Given the description of an element on the screen output the (x, y) to click on. 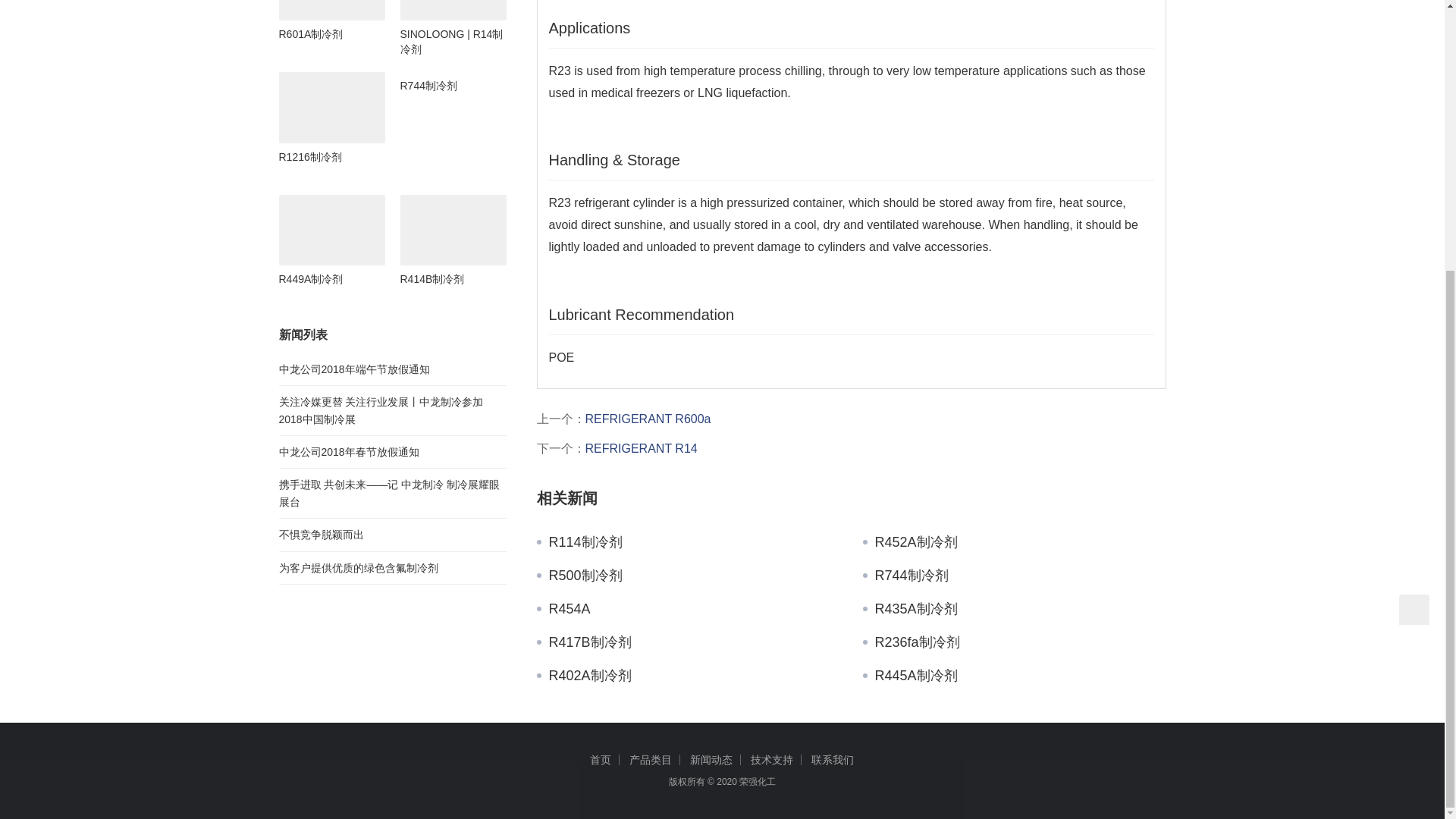
R454A (688, 608)
R454A (688, 608)
REFRIGERANT R600a (648, 418)
REFRIGERANT R14 (641, 448)
